Given the description of an element on the screen output the (x, y) to click on. 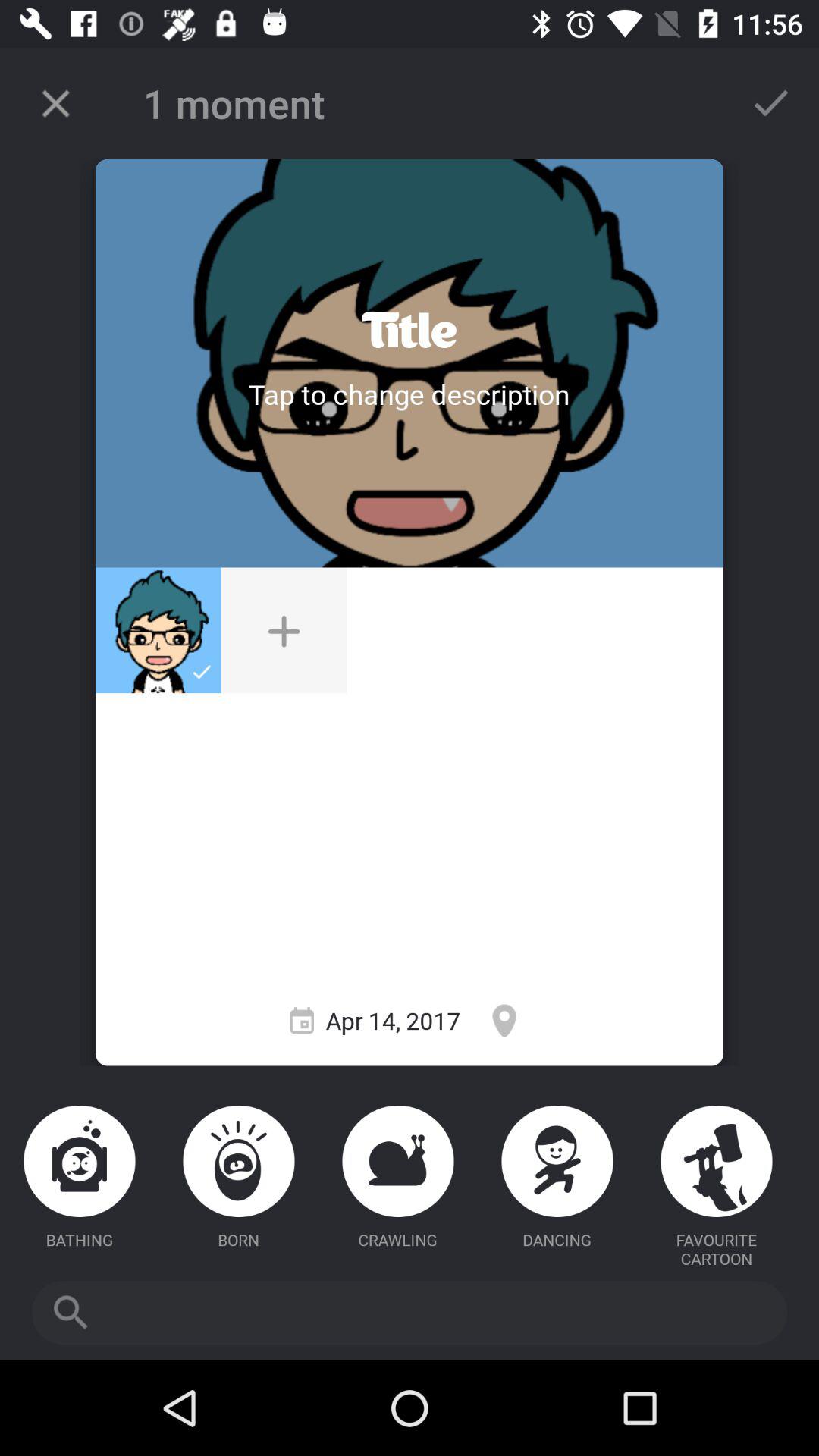
click checkmark (771, 103)
